Given the description of an element on the screen output the (x, y) to click on. 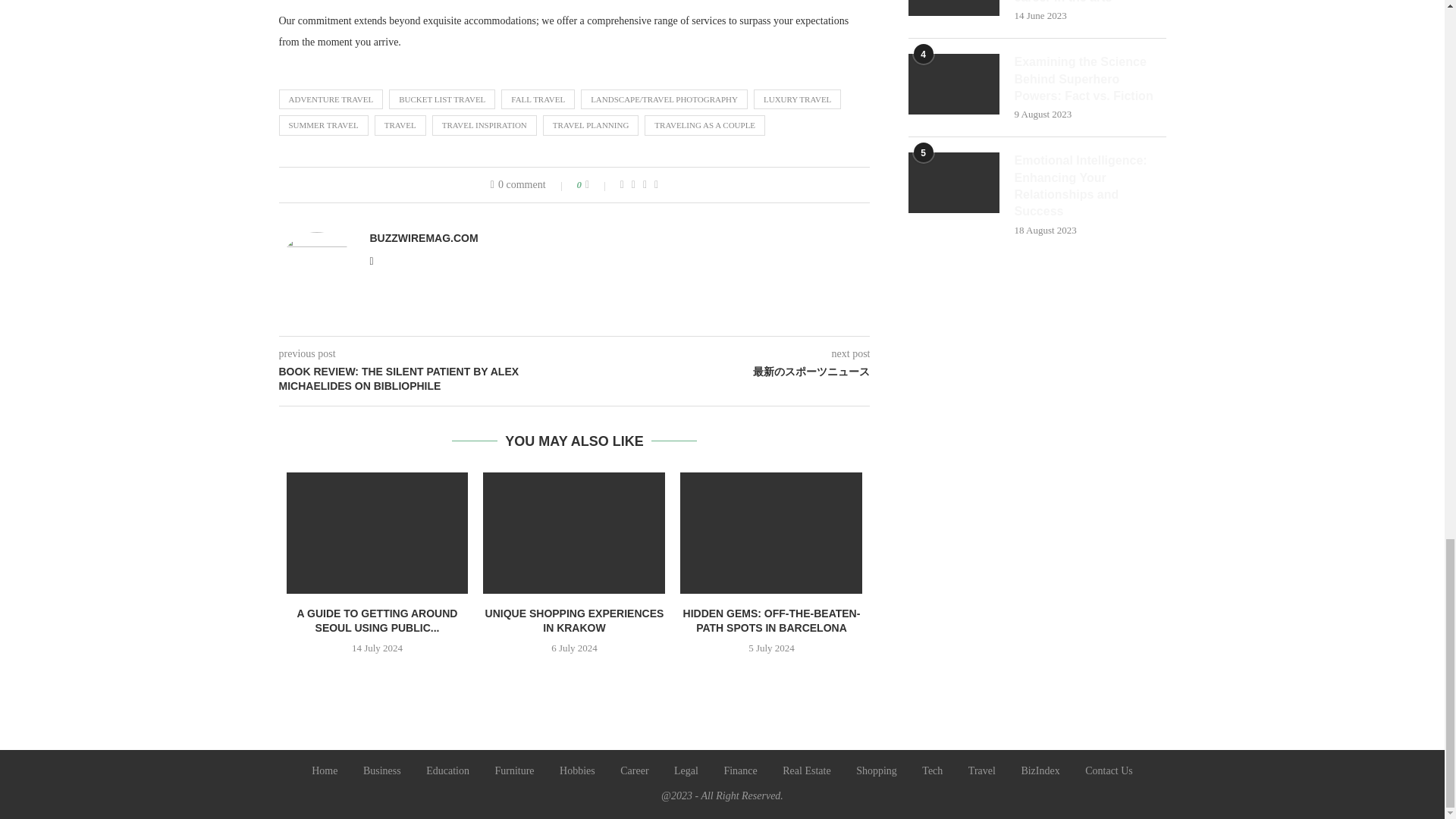
Author buzzwiremag.com (424, 237)
ADVENTURE TRAVEL (331, 98)
Unique shopping experiences in Krakow (574, 532)
A guide to getting around Seoul using public transportation (377, 532)
Like (597, 184)
Hidden Gems: Off-the-Beaten-Path Spots in Barcelona (770, 532)
BUCKET LIST TRAVEL (441, 98)
